Given the description of an element on the screen output the (x, y) to click on. 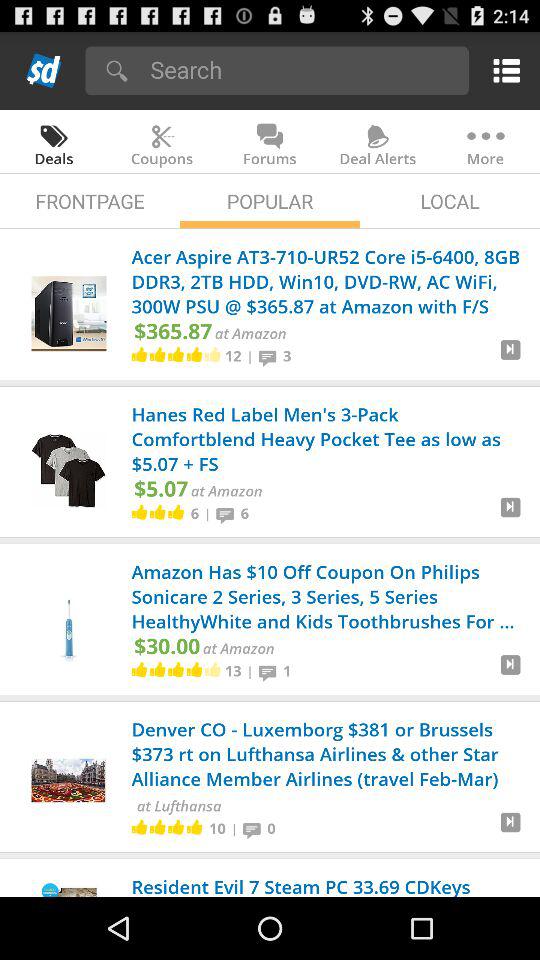
tap icon to the left of the 1 icon (270, 670)
